Given the description of an element on the screen output the (x, y) to click on. 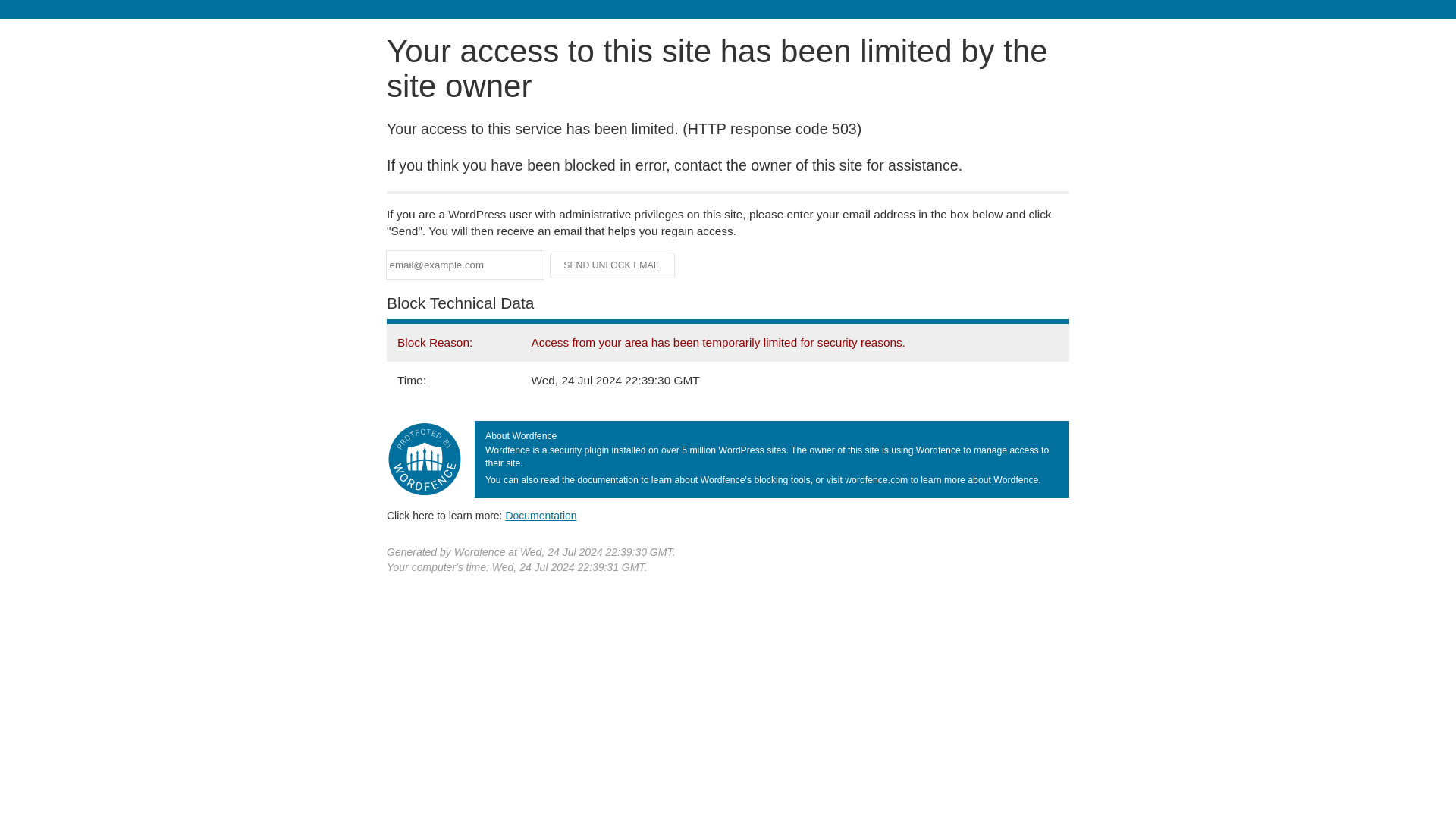
Documentation (540, 515)
Send Unlock Email (612, 265)
Send Unlock Email (612, 265)
